Given the description of an element on the screen output the (x, y) to click on. 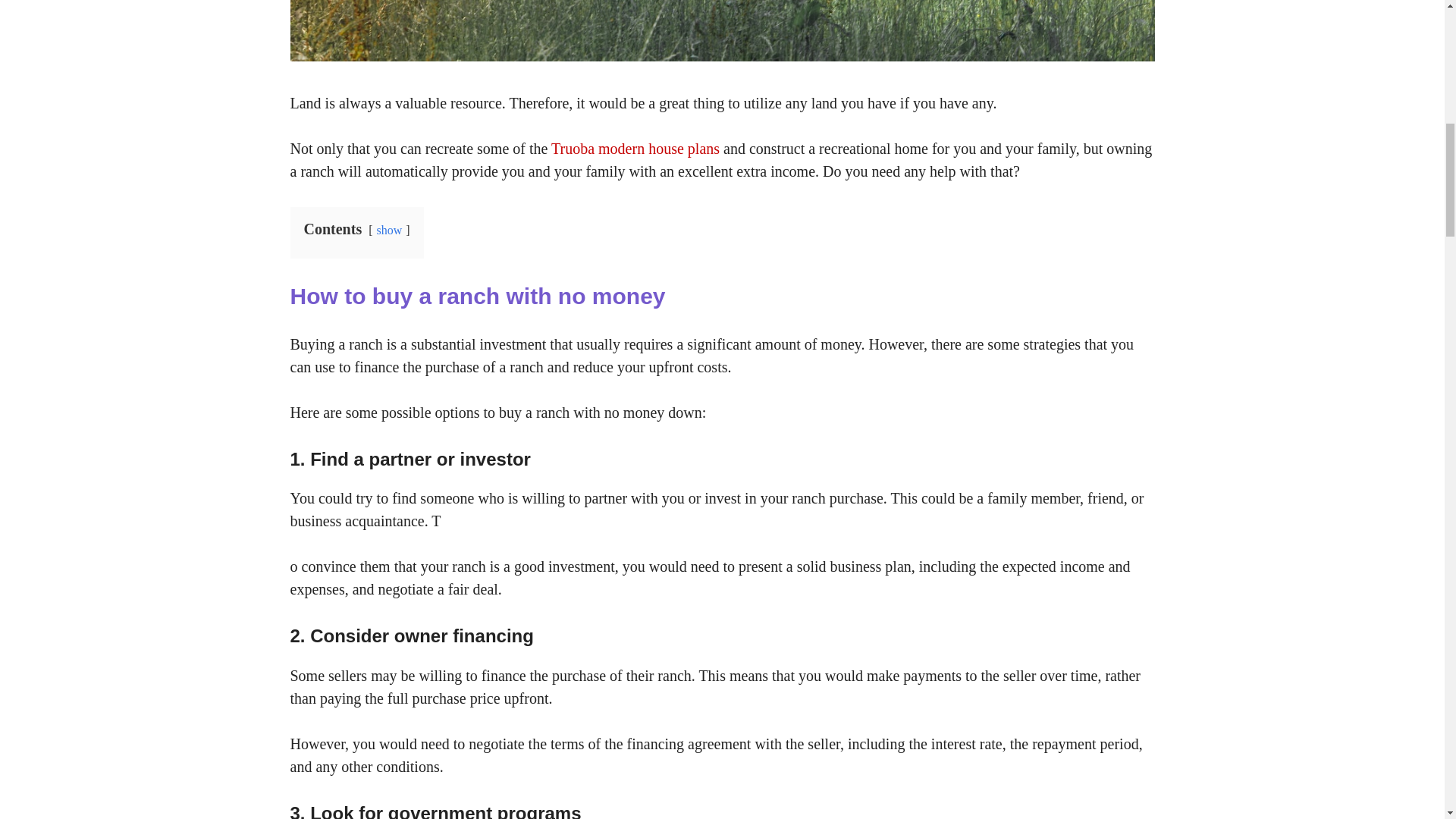
Truoba modern house plans (635, 148)
Scroll back to top (1406, 720)
How to Buy a Ranch that Will Pay for Itself 1 (721, 30)
